Given the description of an element on the screen output the (x, y) to click on. 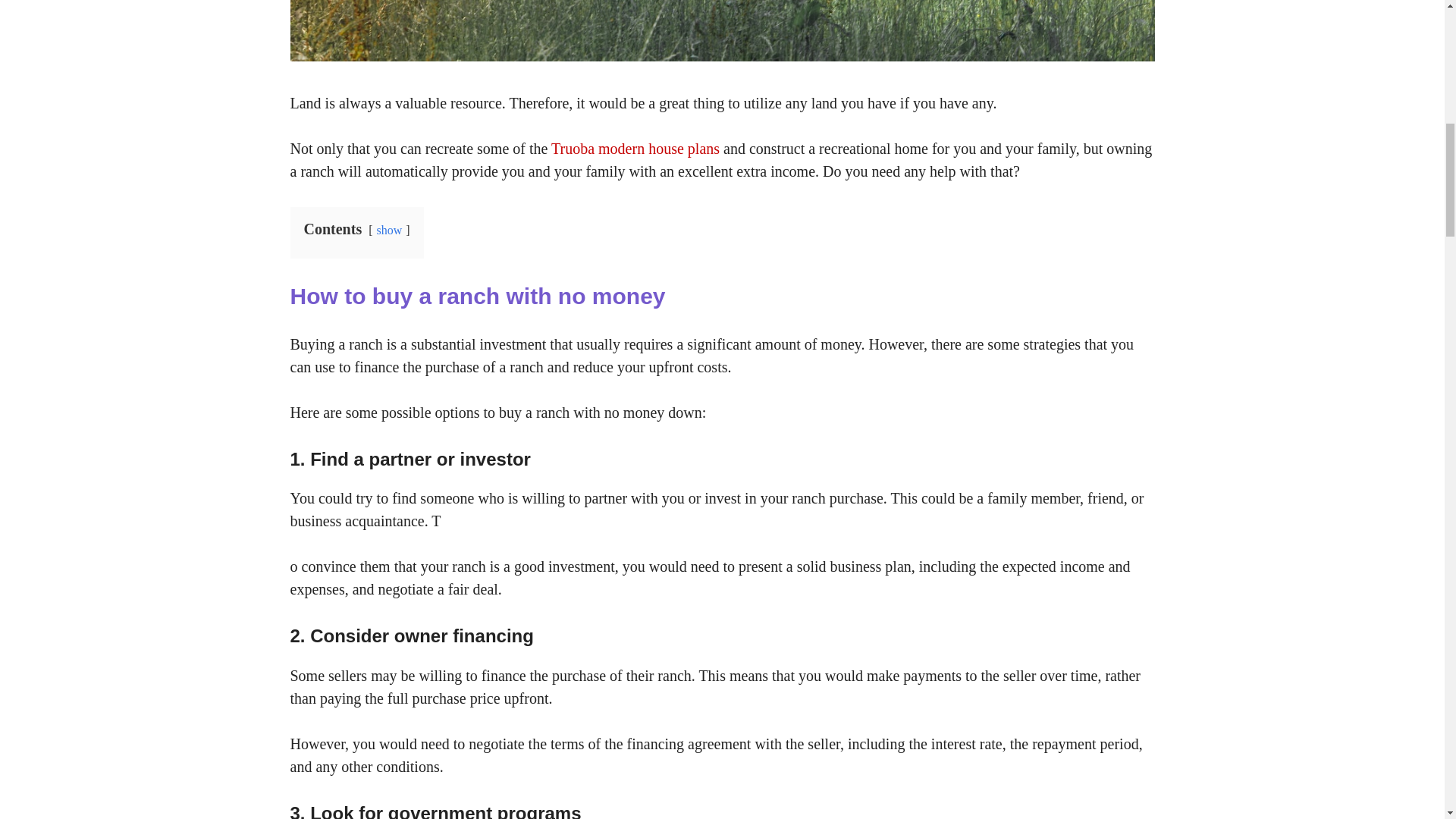
Truoba modern house plans (635, 148)
Scroll back to top (1406, 720)
How to Buy a Ranch that Will Pay for Itself 1 (721, 30)
